Given the description of an element on the screen output the (x, y) to click on. 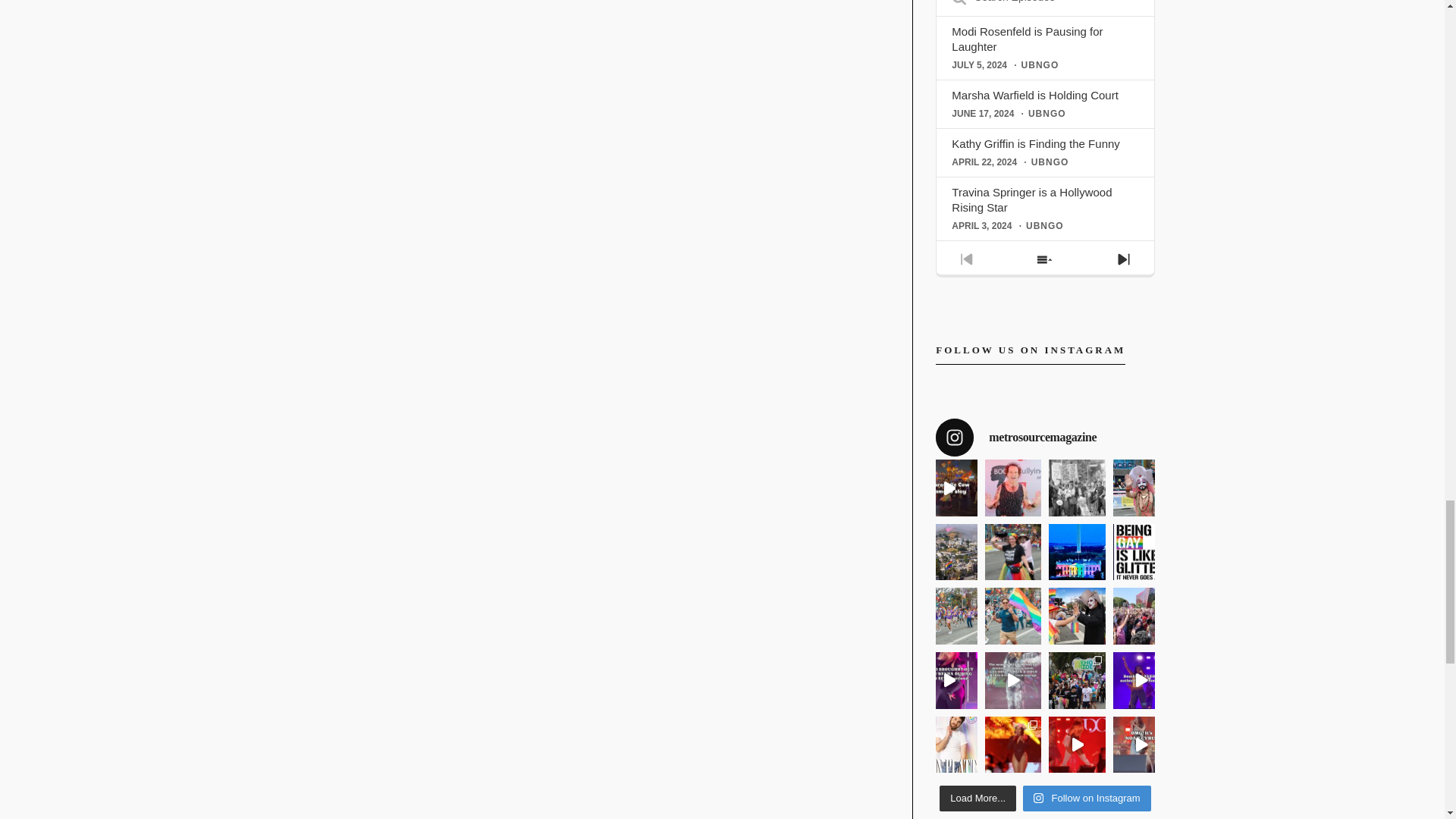
Search Podcast Episodes (1045, 6)
